Given the description of an element on the screen output the (x, y) to click on. 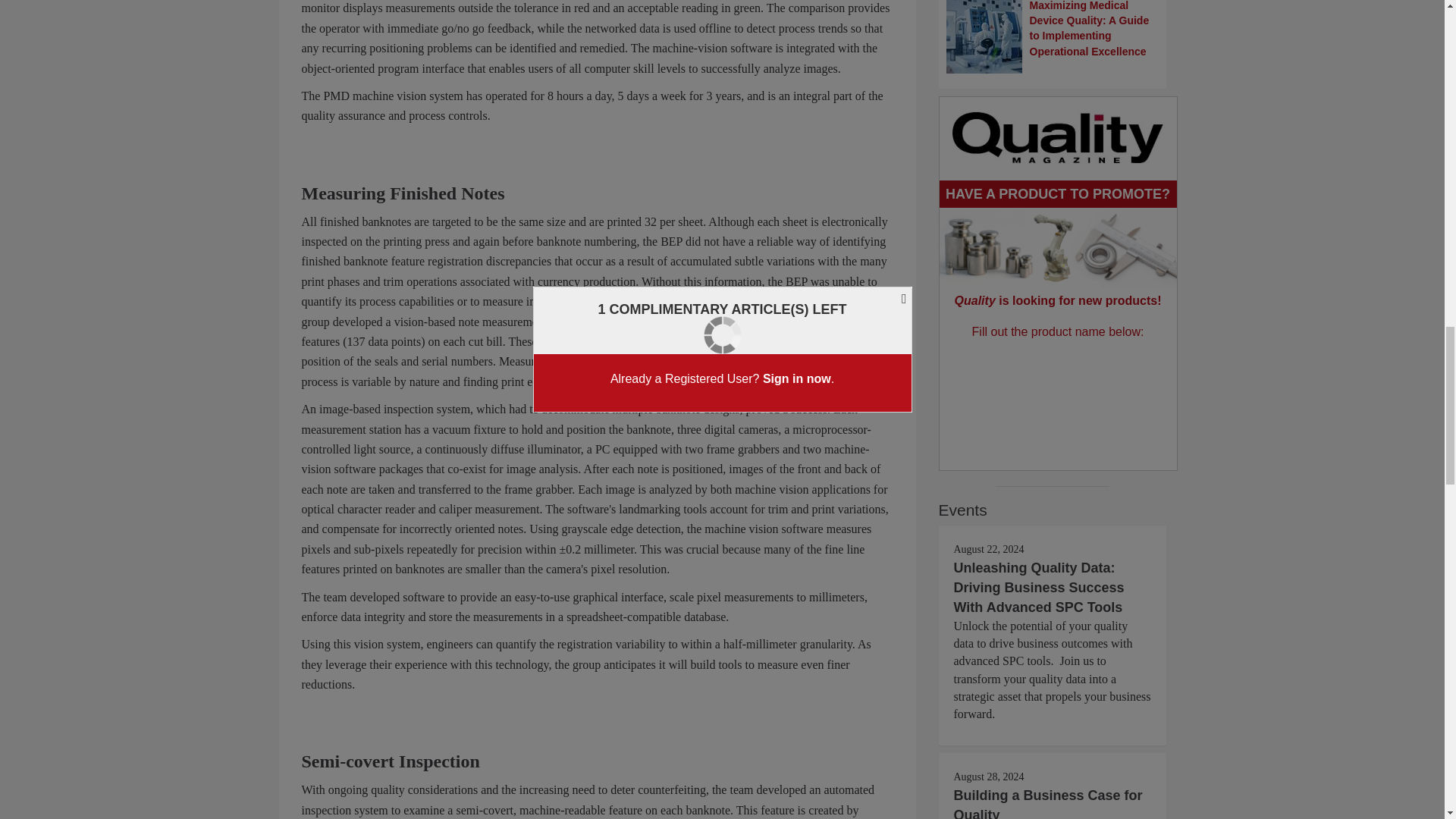
Interaction questions (1058, 388)
Building a Business Case for Quality (1047, 803)
